Given the description of an element on the screen output the (x, y) to click on. 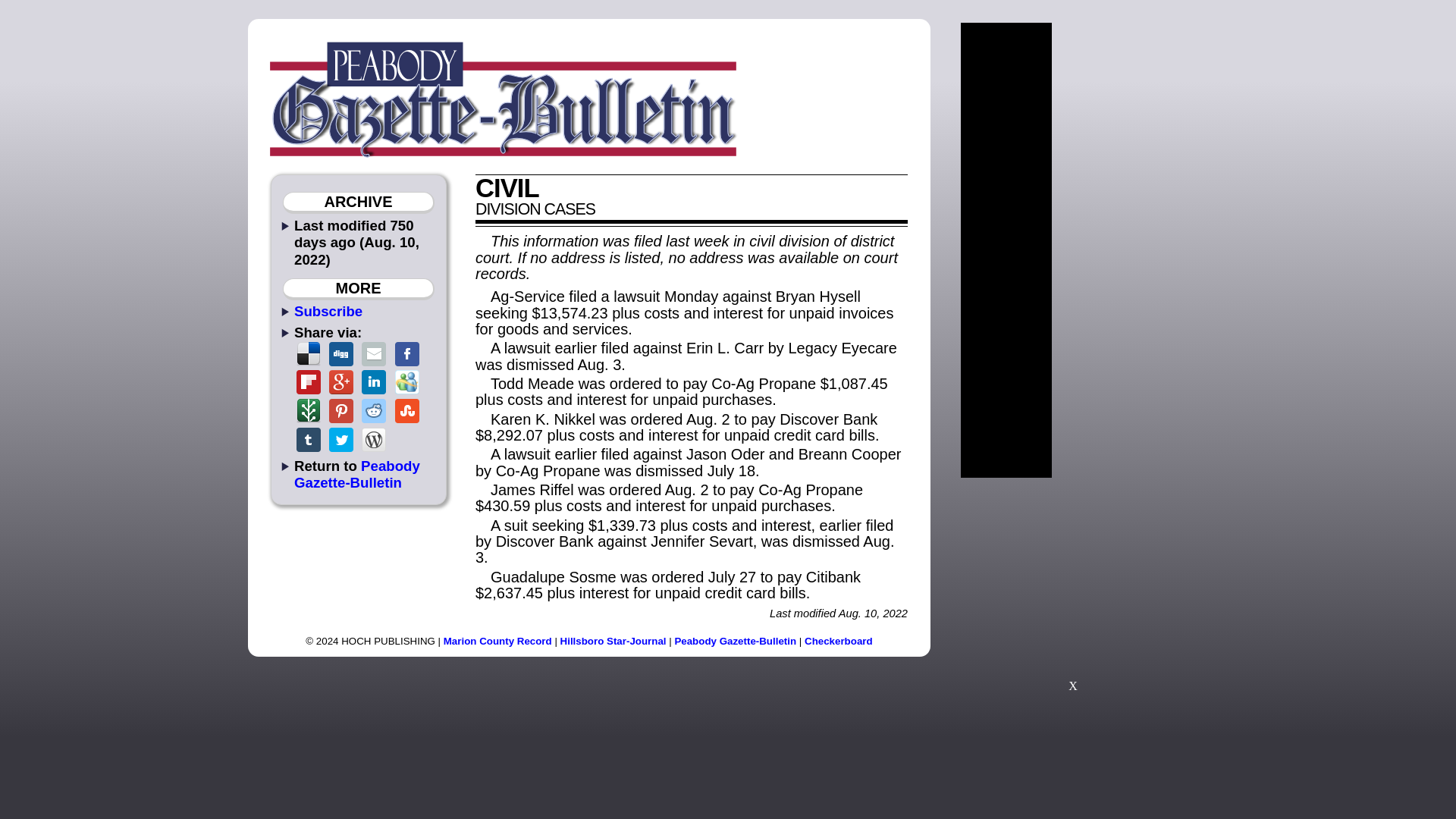
Peabody Gazette-Bulletin (357, 473)
Advertisement (1072, 591)
Peabody Gazette-Bulletin (735, 641)
Checkerboard (838, 641)
Hillsboro Star-Journal (613, 641)
Subscribe (328, 311)
Marion County Record (497, 641)
